Given the description of an element on the screen output the (x, y) to click on. 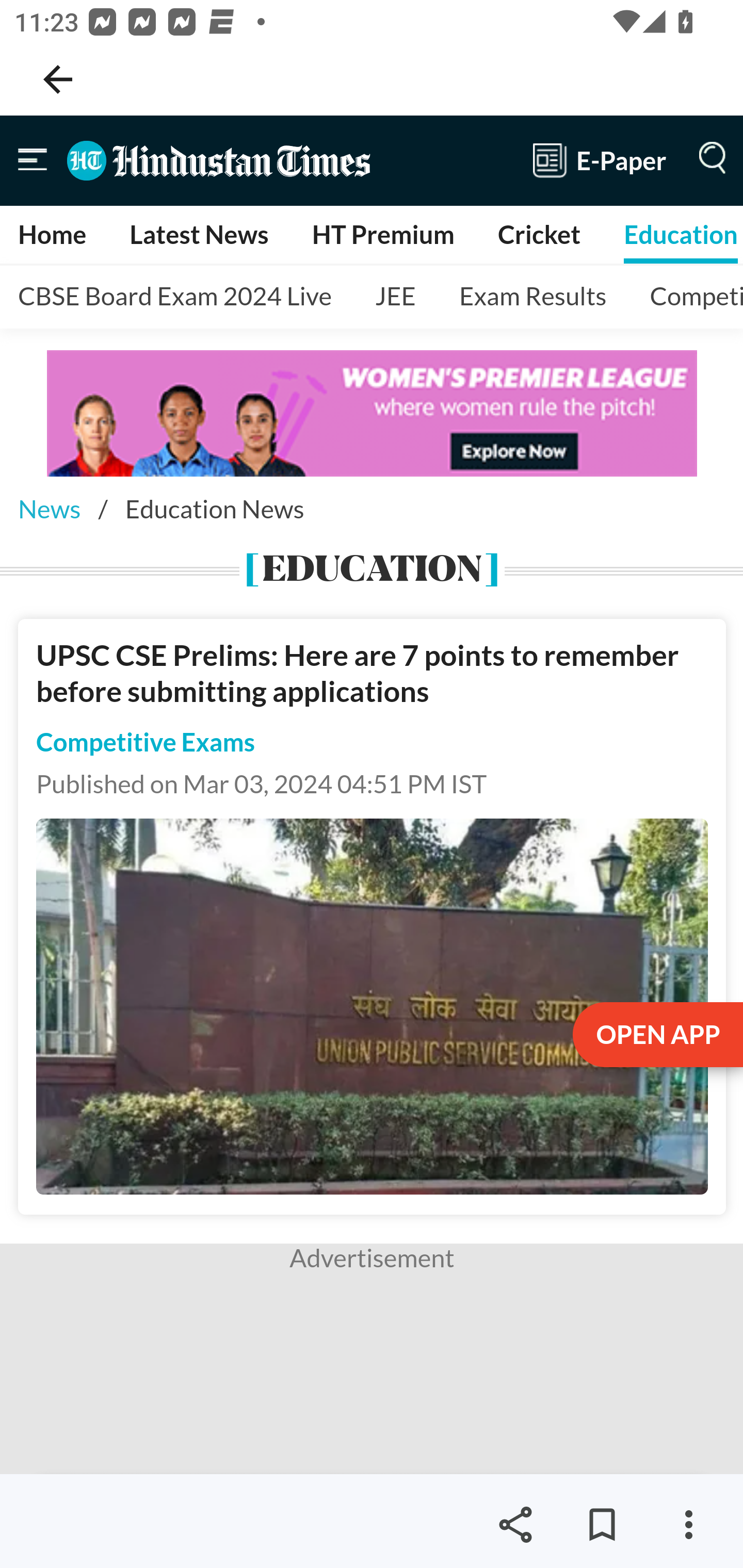
Navigate up (57, 79)
Menu Menu Menu Menu (708, 159)
E-Paper E-Paper E-Paper E-Paper E-Paper (599, 160)
Menu Menu (32, 160)
Home (52, 233)
Latest News (197, 233)
HT Premium (382, 233)
Cricket (538, 233)
Education (680, 233)
CBSE Board Exam 2024 Live (175, 297)
JEE (394, 297)
Exam Results (533, 297)
News (48, 508)
Competitive Exams (146, 741)
OPEN APP (656, 1035)
Share (514, 1524)
Save for later (601, 1524)
More options (688, 1524)
